Given the description of an element on the screen output the (x, y) to click on. 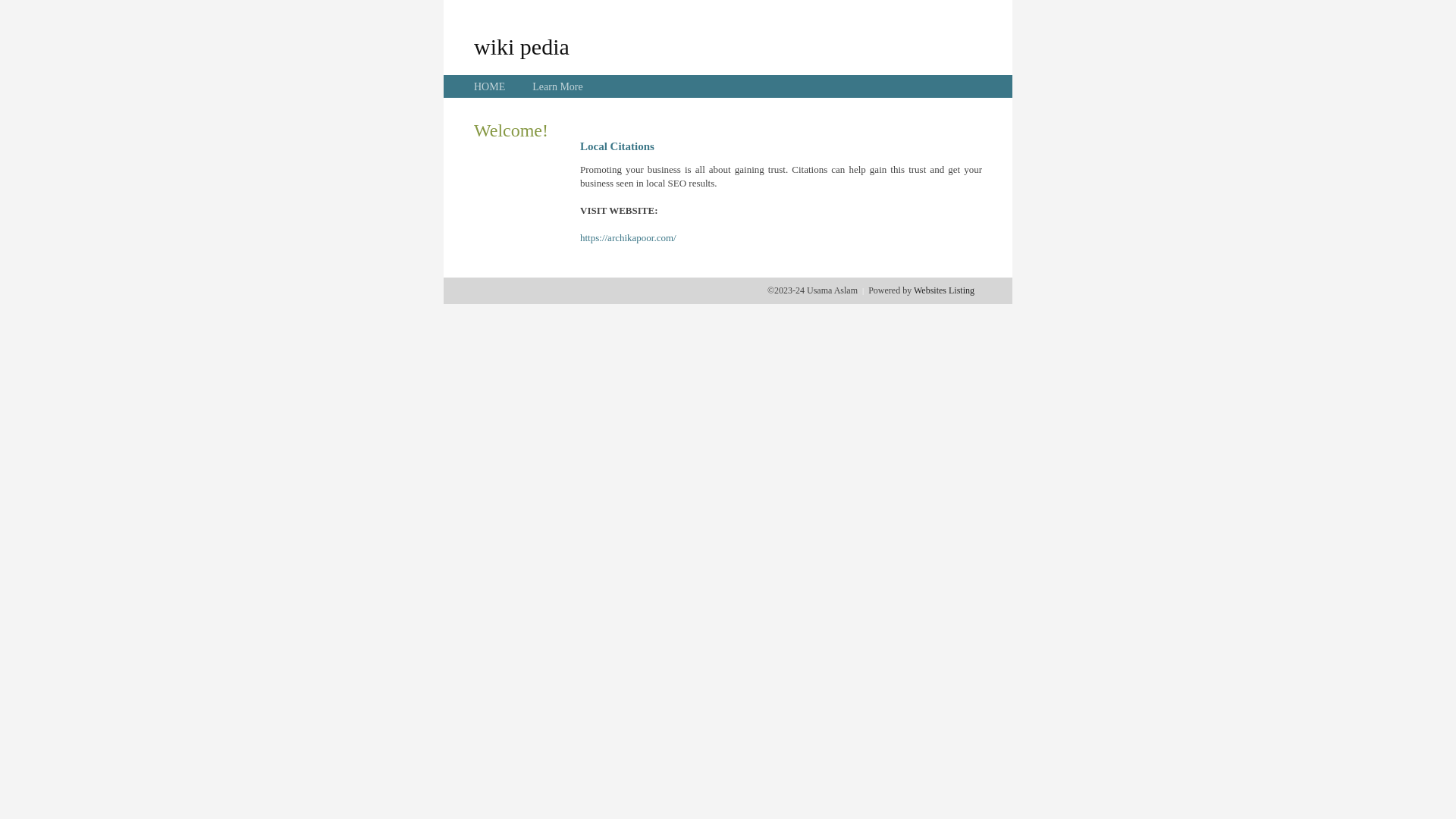
HOME Element type: text (489, 86)
wiki pedia Element type: text (521, 46)
Websites Listing Element type: text (943, 290)
Learn More Element type: text (557, 86)
https://archikapoor.com/ Element type: text (628, 237)
